Given the description of an element on the screen output the (x, y) to click on. 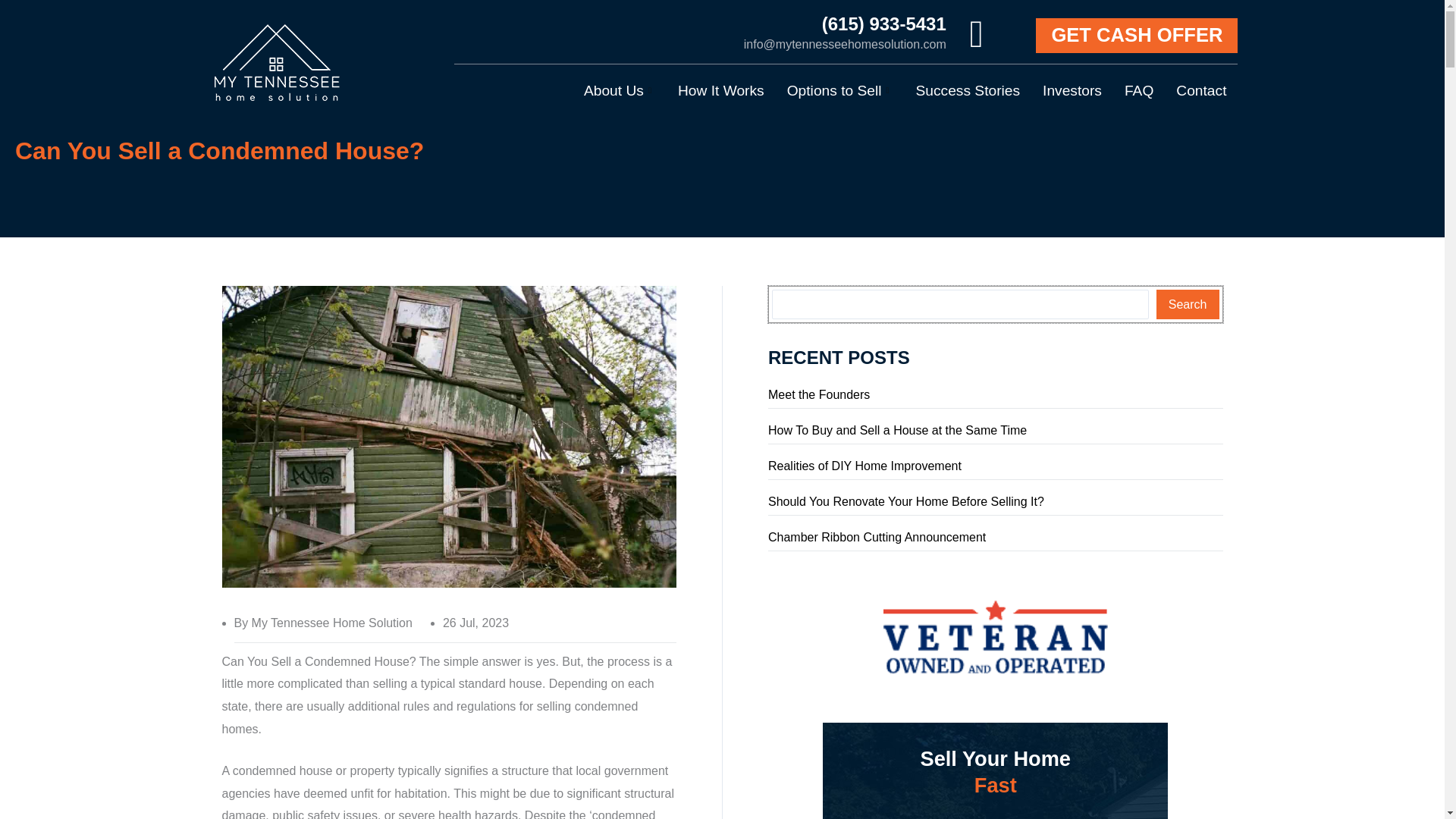
Options to Sell (840, 90)
Meet the Founders (818, 394)
About Us (619, 90)
Investors (1071, 90)
How It Works (721, 90)
GET CASH OFFER (1136, 35)
Success Stories (968, 90)
FAQ (1138, 90)
Contact (1200, 90)
Search (1188, 303)
